Given the description of an element on the screen output the (x, y) to click on. 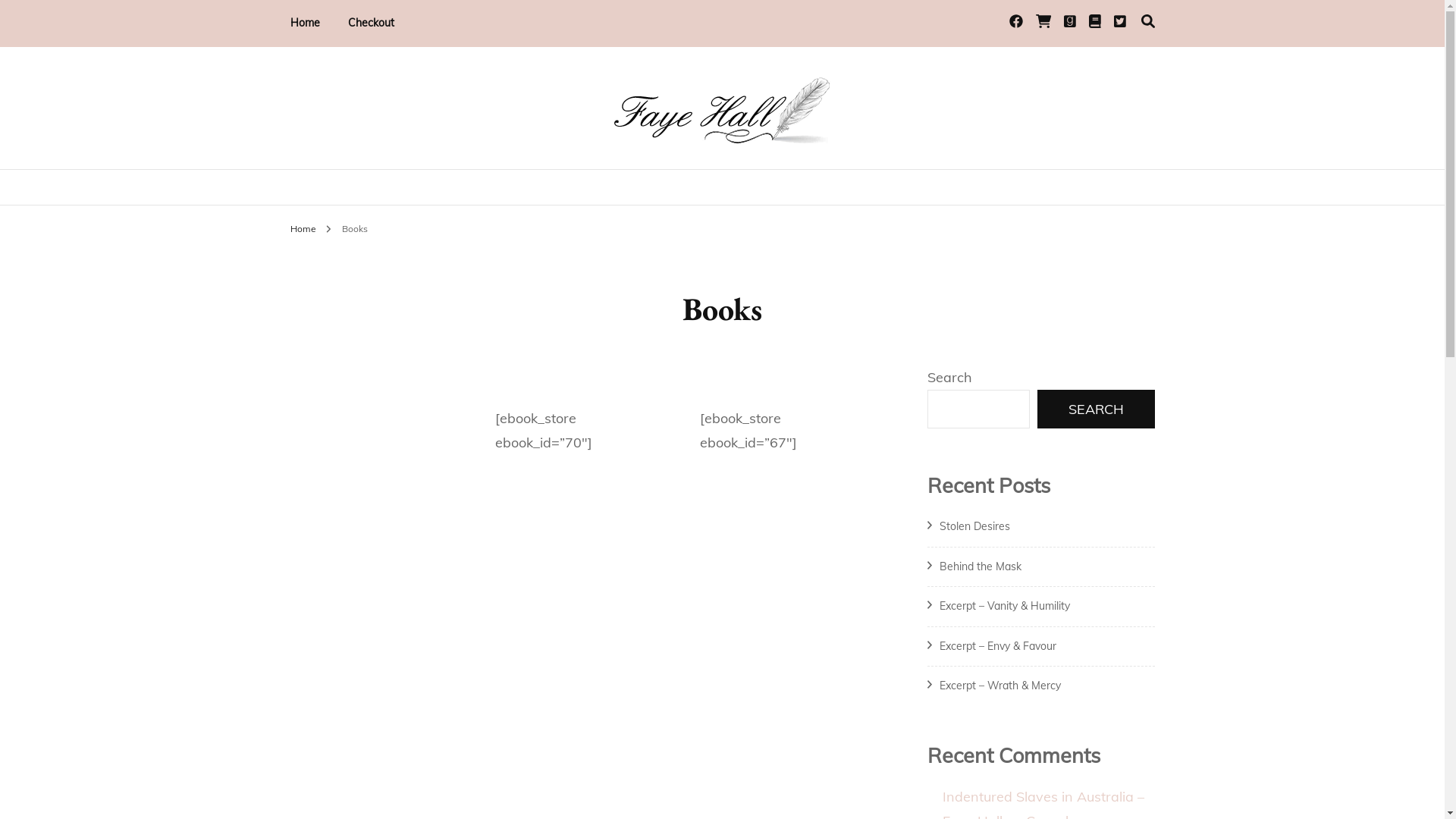
Stolen Desires Element type: text (973, 526)
Home Element type: text (302, 228)
Books Element type: text (354, 228)
Faye Hall Element type: text (361, 176)
Behind the Mask Element type: text (979, 566)
Home Element type: text (304, 23)
SEARCH Element type: text (1095, 409)
Checkout Element type: text (370, 23)
